Given the description of an element on the screen output the (x, y) to click on. 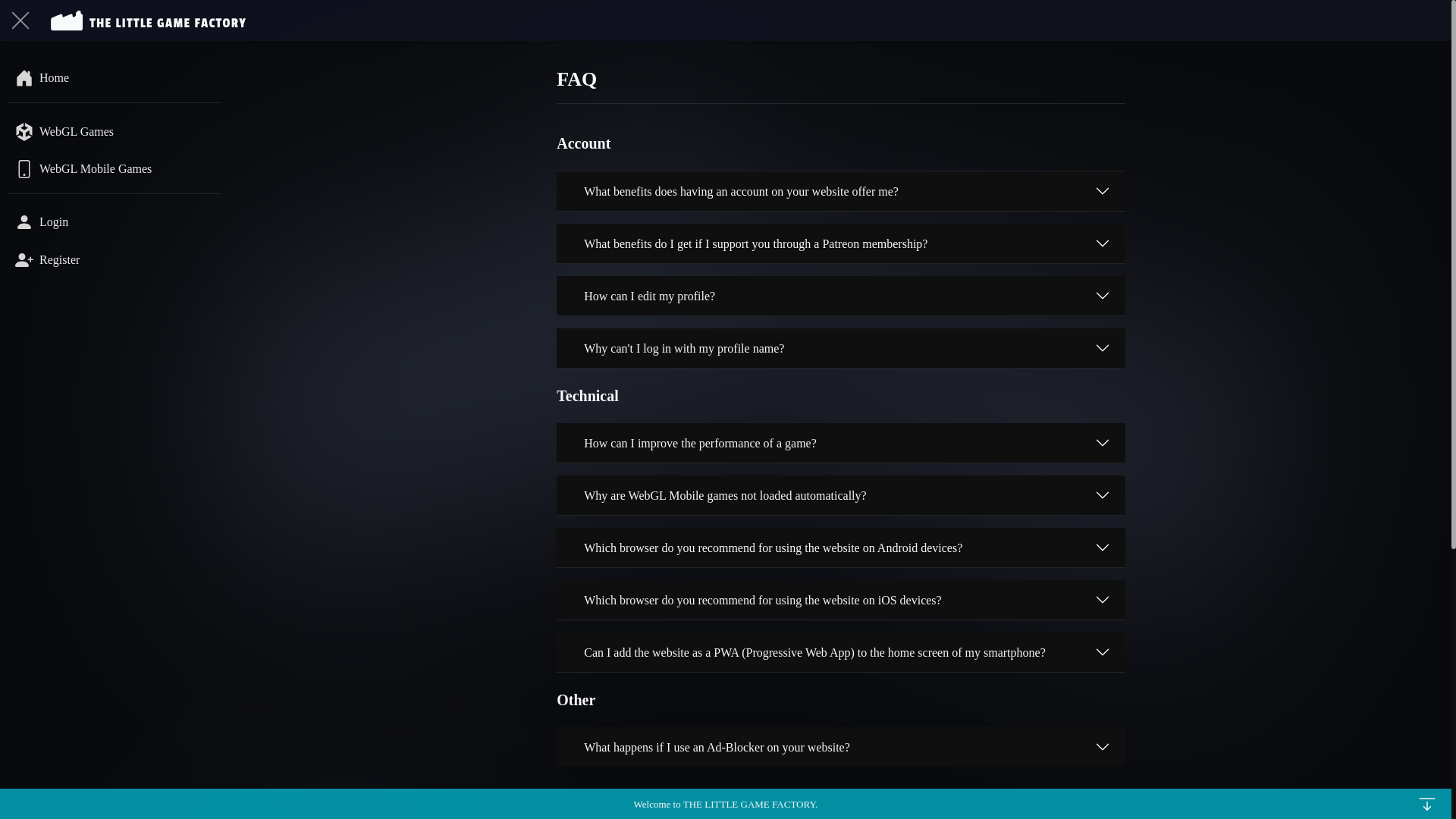
What happens if I use an Ad-Blocker on your website? (840, 746)
Home (114, 77)
WebGL Mobile Games (114, 168)
Why are WebGL Mobile games not loaded automatically? (840, 495)
Register (114, 258)
Login (114, 221)
How can I edit my profile? (840, 295)
How can I improve the performance of a game? (840, 442)
WebGL Games (114, 130)
Why can't I log in with my profile name? (840, 347)
